Given the description of an element on the screen output the (x, y) to click on. 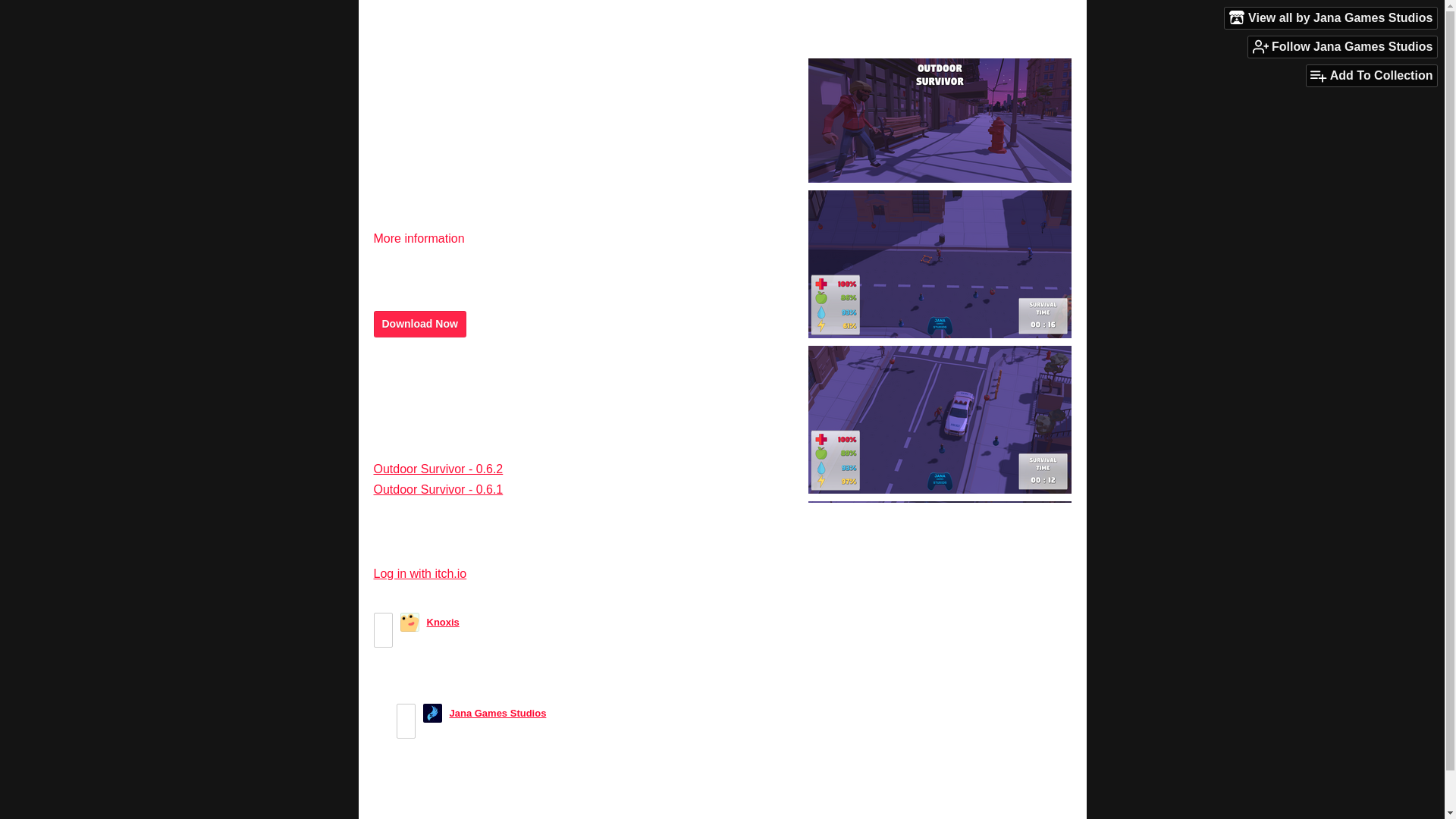
Reply (412, 686)
OutdoorSurvivor-0.6.2.zip (446, 388)
Vote down (405, 729)
Download Now (418, 324)
Outdoor Survivor - 0.6.1 (437, 489)
Knoxis (442, 622)
Jana Games Studios (497, 713)
View all by Jana Games Studios (1330, 17)
More information (424, 237)
Vote down (382, 638)
Vote up (382, 621)
4 years ago (492, 622)
Vote up (405, 712)
Follow Jana Games Studios (1342, 46)
2020-04-27 15:30:14 (579, 713)
